Given the description of an element on the screen output the (x, y) to click on. 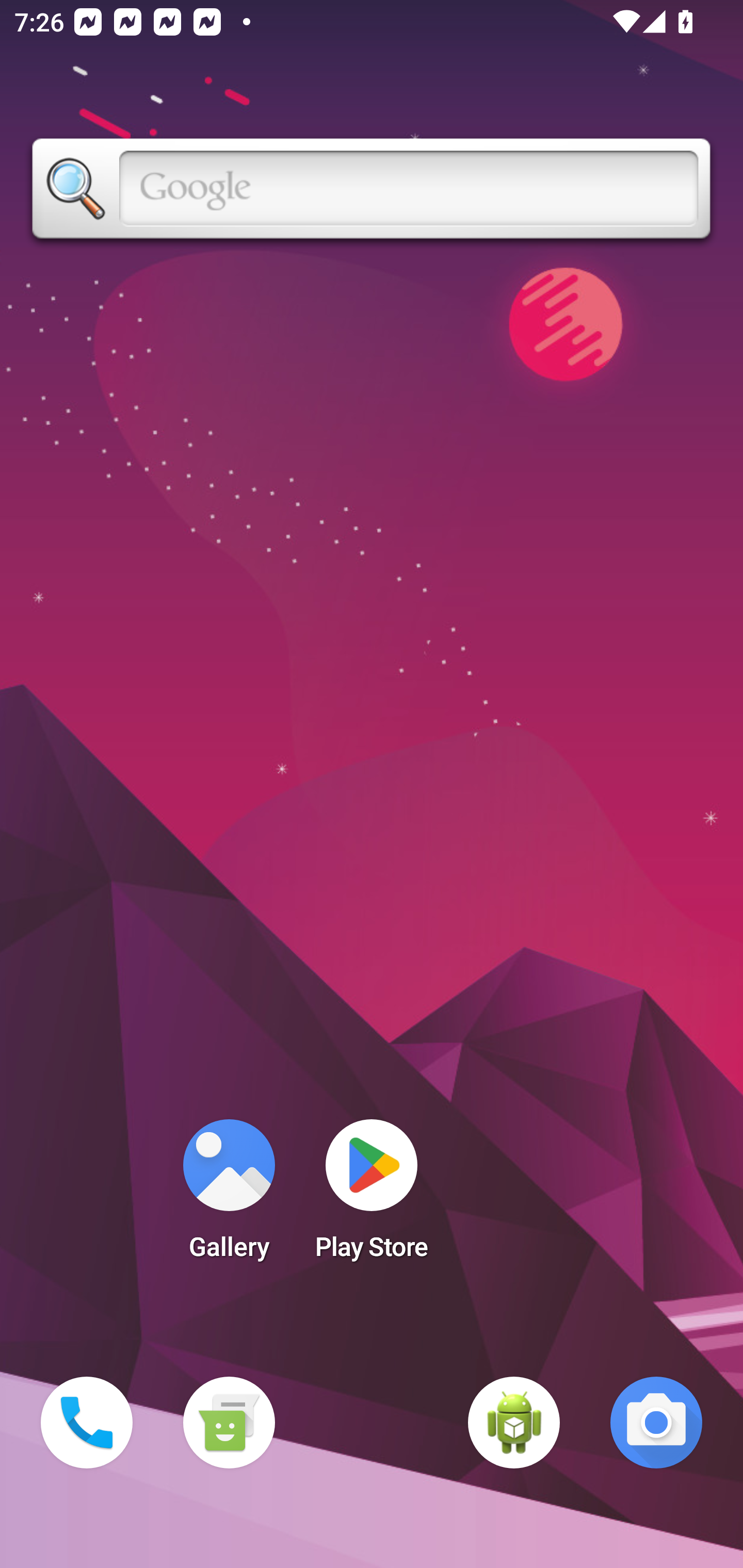
Gallery (228, 1195)
Play Store (371, 1195)
Phone (86, 1422)
Messaging (228, 1422)
WebView Browser Tester (513, 1422)
Camera (656, 1422)
